Given the description of an element on the screen output the (x, y) to click on. 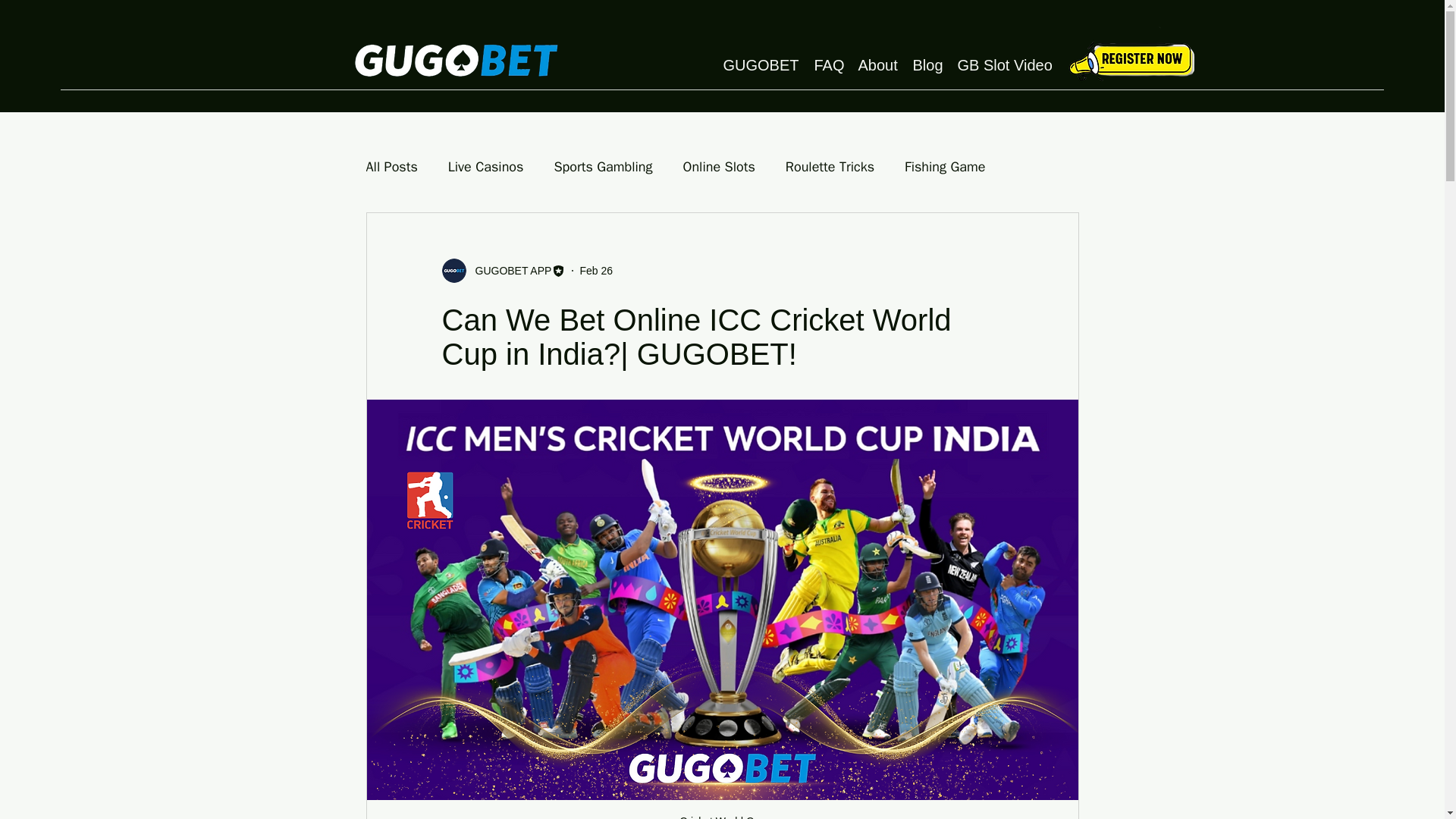
Feb 26 (595, 269)
GB Slot Video (1003, 63)
Blog (927, 63)
FAQ (828, 63)
All Posts (390, 167)
Roulette Tricks (830, 167)
About (877, 63)
GUGOBET APP (508, 270)
Live Casinos (486, 167)
GUGOBET (761, 63)
